Given the description of an element on the screen output the (x, y) to click on. 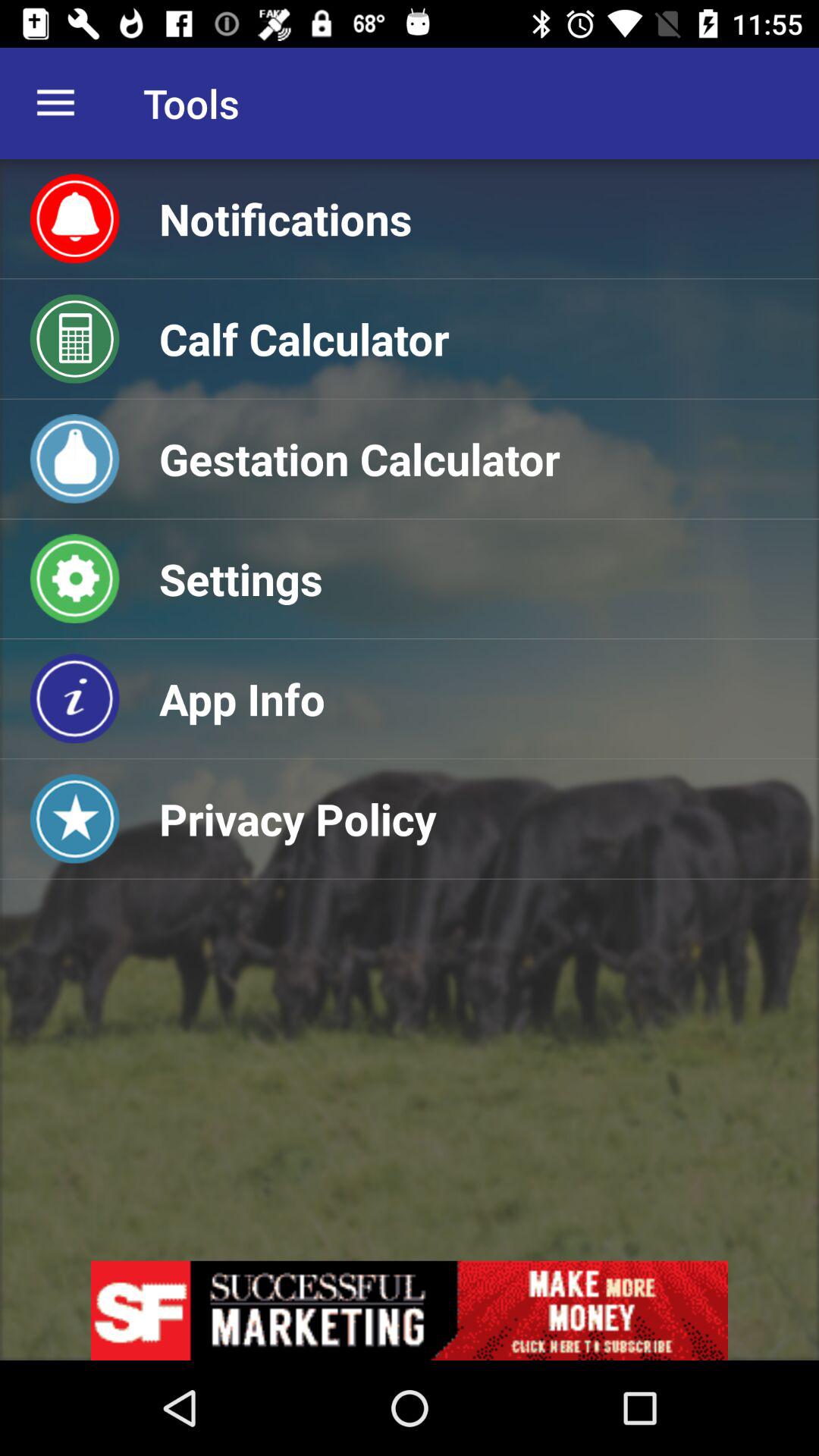
view advertisement (409, 1310)
